Given the description of an element on the screen output the (x, y) to click on. 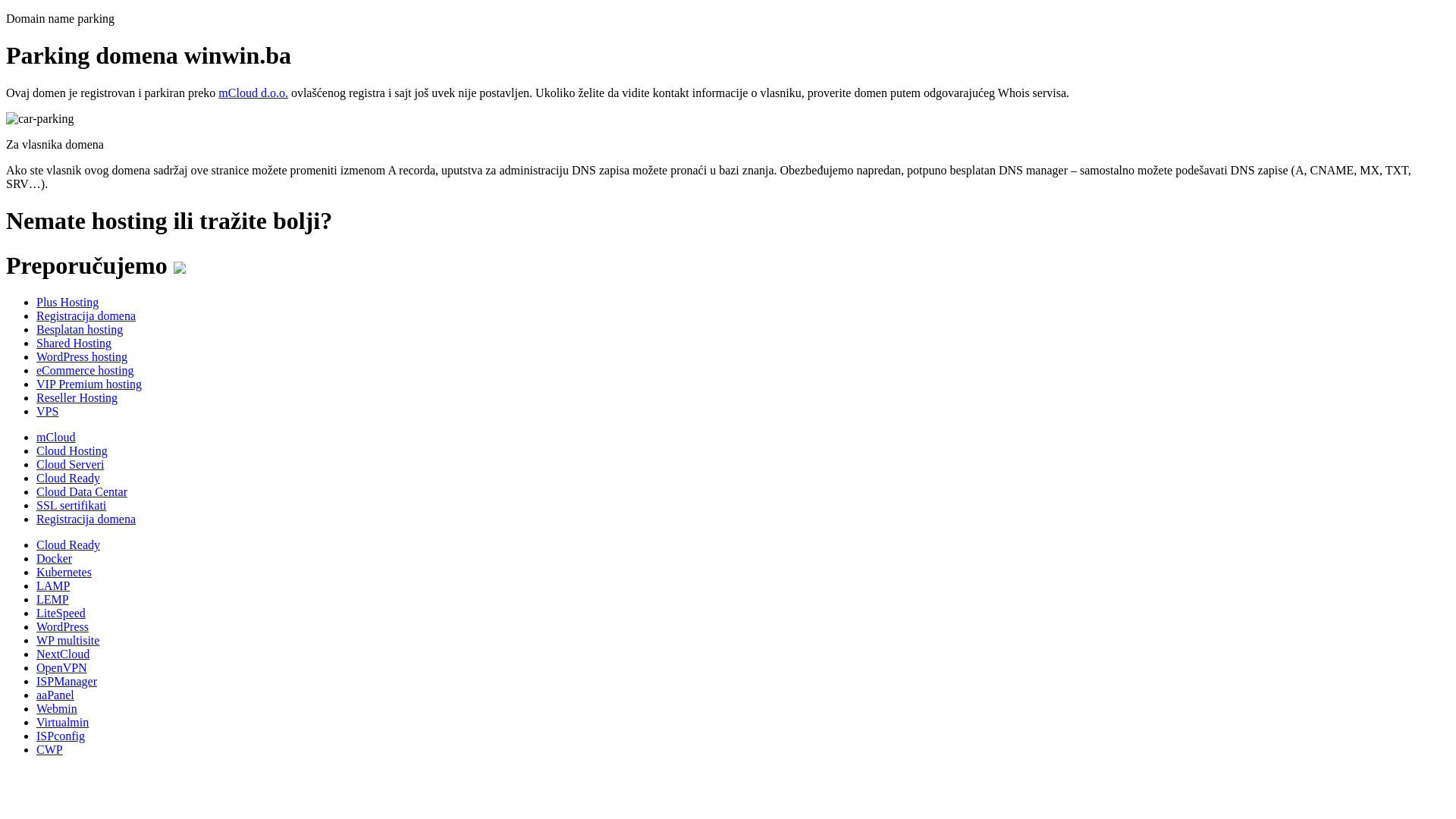
ISPManager Element type: text (66, 680)
Cloud Hosting Element type: text (71, 450)
Reseller Hosting Element type: text (76, 397)
Webmin Element type: text (56, 708)
eCommerce hosting Element type: text (84, 370)
Cloud Ready Element type: text (68, 477)
Virtualmin Element type: text (62, 721)
WordPress Element type: text (62, 626)
ISPconfig Element type: text (60, 735)
mCloud d.o.o. Element type: text (253, 92)
LEMP Element type: text (52, 599)
LAMP Element type: text (52, 585)
Registracija domena Element type: text (85, 518)
Registracija domena Element type: text (85, 315)
Plus Hosting Element type: text (67, 301)
CWP Element type: text (49, 749)
Besplatan hosting Element type: text (79, 329)
Cloud Serveri Element type: text (69, 464)
OpenVPN Element type: text (61, 667)
VIP Premium hosting Element type: text (88, 383)
WordPress hosting Element type: text (81, 356)
Shared Hosting Element type: text (73, 342)
aaPanel Element type: text (55, 694)
LiteSpeed Element type: text (60, 612)
VPS Element type: text (47, 410)
Cloud Data Centar Element type: text (81, 491)
Docker Element type: text (54, 558)
NextCloud Element type: text (62, 653)
Cloud Ready Element type: text (68, 544)
mCloud Element type: text (55, 436)
WP multisite Element type: text (67, 639)
Kubernetes Element type: text (63, 571)
SSL sertifikati Element type: text (71, 504)
